Given the description of an element on the screen output the (x, y) to click on. 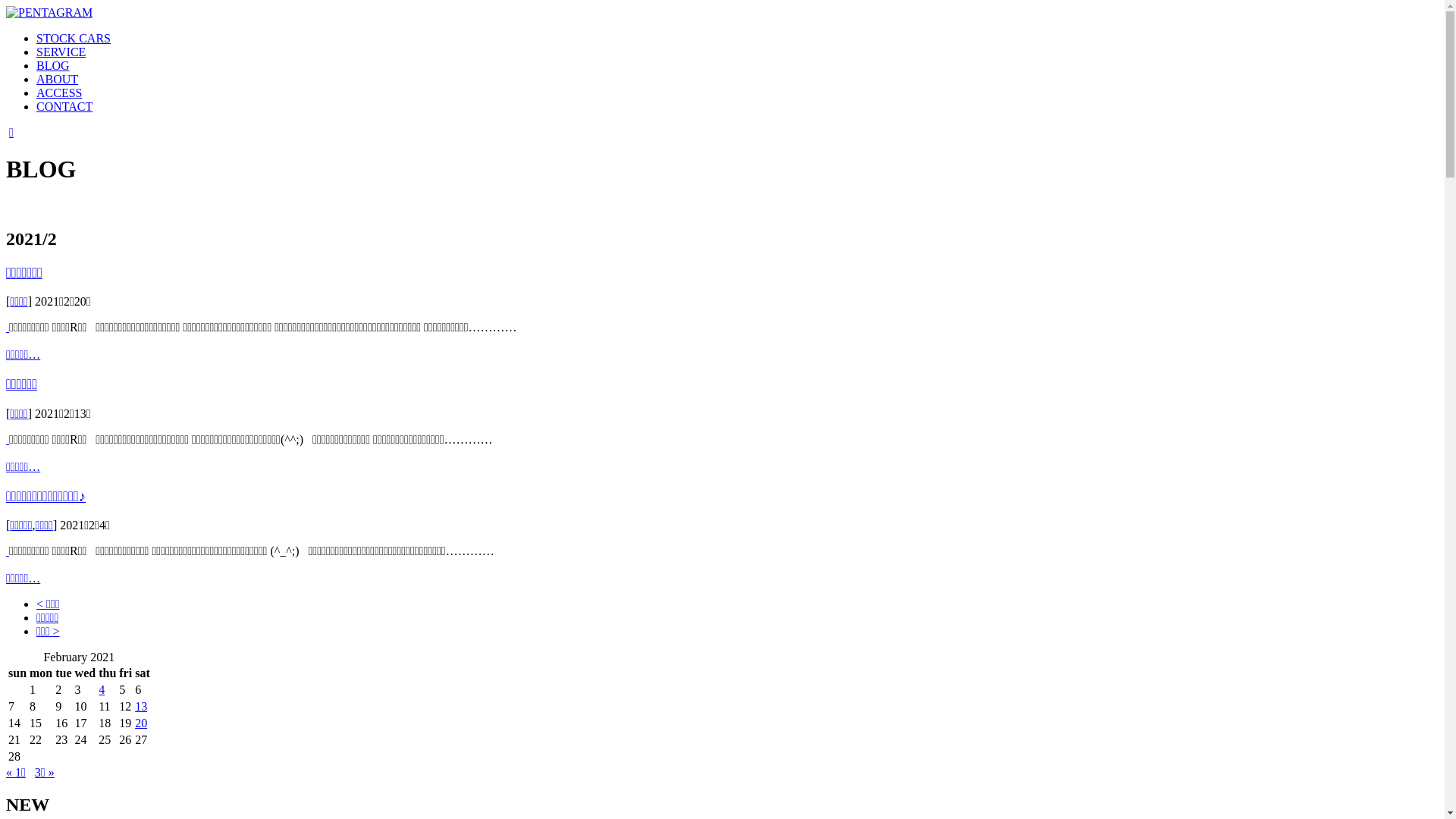
4 Element type: text (101, 689)
CONTACT Element type: text (64, 106)
STOCK CARS Element type: text (73, 37)
SERVICE Element type: text (60, 51)
ABOUT Element type: text (57, 78)
20 Element type: text (140, 722)
ACCESS Element type: text (58, 92)
BLOG Element type: text (52, 65)
13 Element type: text (140, 705)
